Given the description of an element on the screen output the (x, y) to click on. 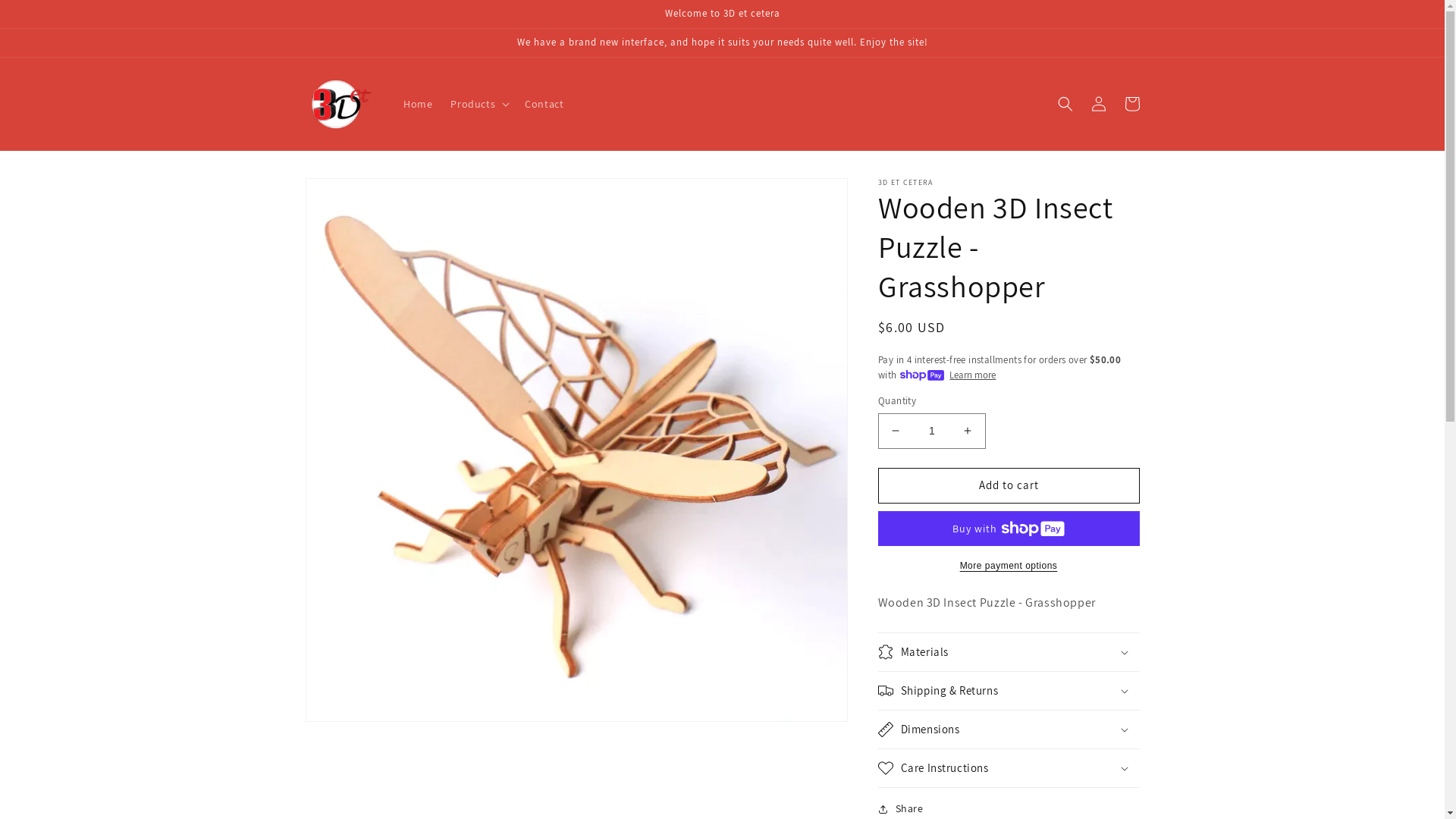
Increase quantity for Wooden 3D Insect Puzzle - Grasshopper Element type: text (967, 430)
Add to cart Element type: text (1008, 485)
More payment options Element type: text (1008, 565)
Cart Element type: text (1131, 103)
Decrease quantity for Wooden 3D Insect Puzzle - Grasshopper Element type: text (895, 430)
Home Element type: text (417, 103)
Skip to product information Element type: text (350, 195)
Log in Element type: text (1097, 103)
Contact Element type: text (543, 103)
